Given the description of an element on the screen output the (x, y) to click on. 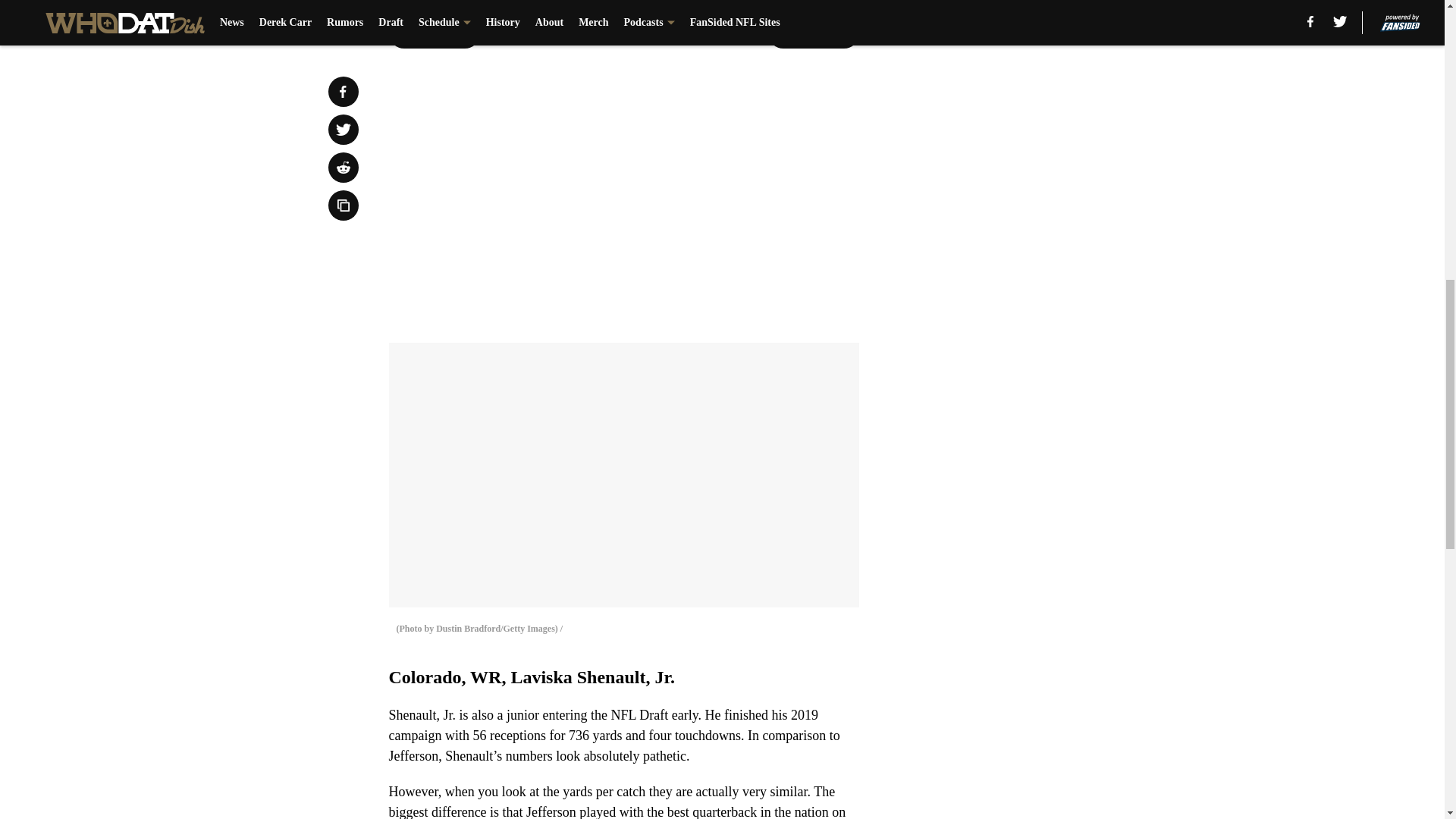
Next (813, 33)
Prev (433, 33)
